Given the description of an element on the screen output the (x, y) to click on. 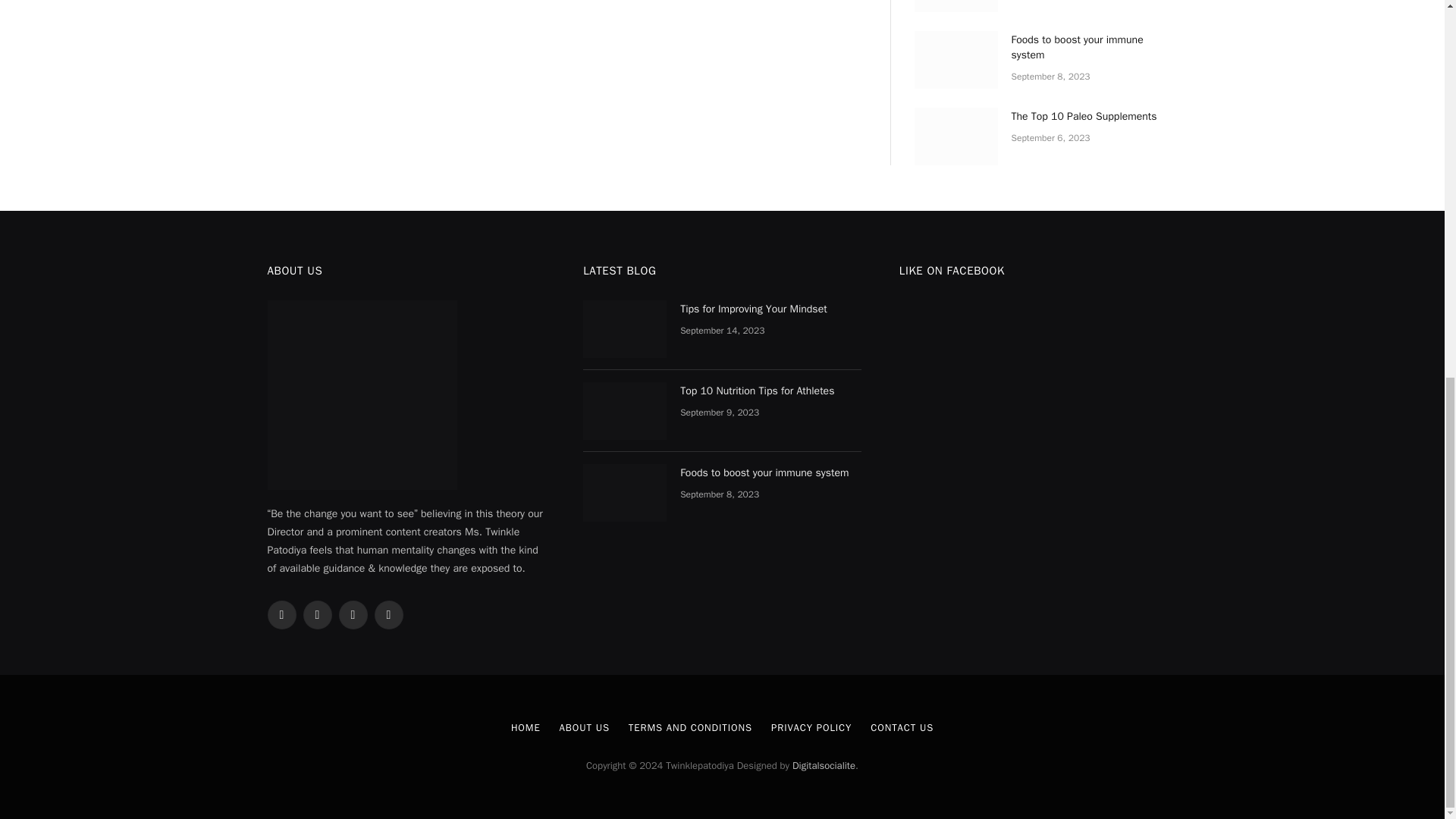
Tips for Improving Your Mindset (624, 328)
Top 10 Nutrition Tips for Athletes (955, 6)
Foods to boost your immune system (955, 59)
The Top 10 Paleo Supplements (955, 136)
